Given the description of an element on the screen output the (x, y) to click on. 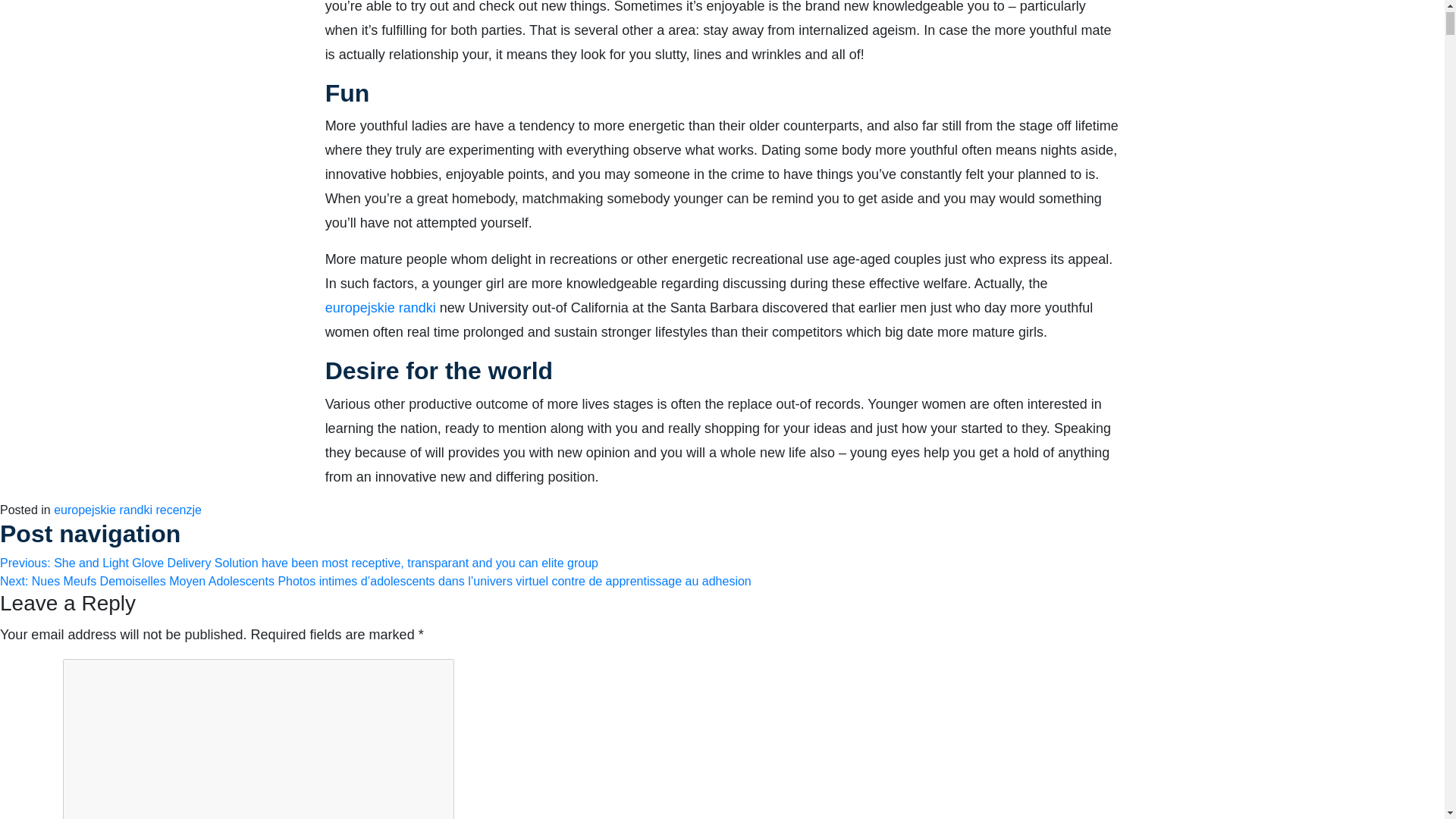
europejskie randki (379, 307)
europejskie randki recenzje (127, 509)
